Given the description of an element on the screen output the (x, y) to click on. 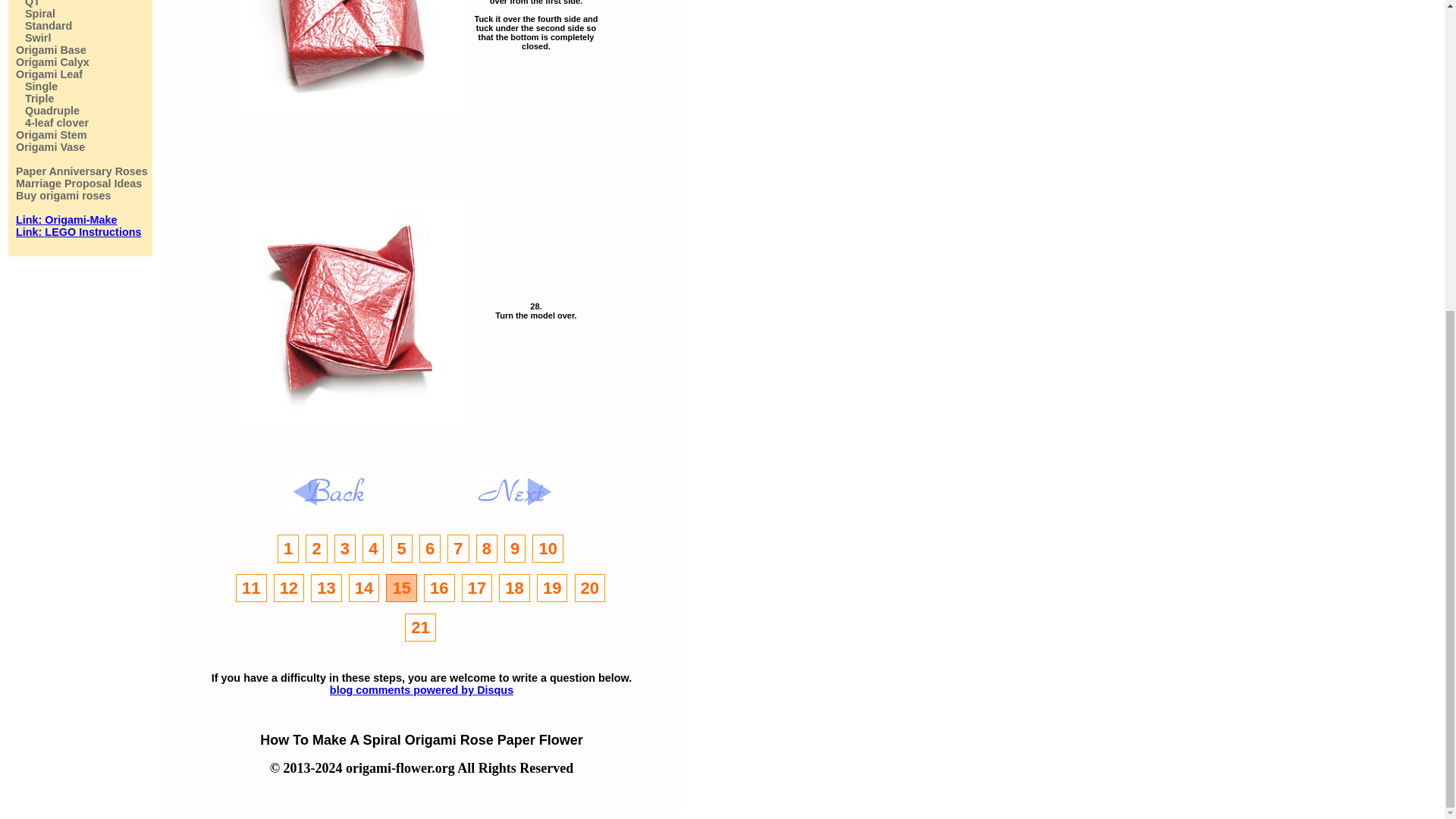
18 (514, 587)
16 (438, 587)
blog comments powered by Disqus (421, 689)
14 (363, 587)
13 (325, 587)
19 (552, 587)
21 (419, 627)
11 (250, 587)
20 (590, 587)
10 (547, 548)
12 (288, 587)
Advertisement (435, 154)
17 (476, 587)
